Given the description of an element on the screen output the (x, y) to click on. 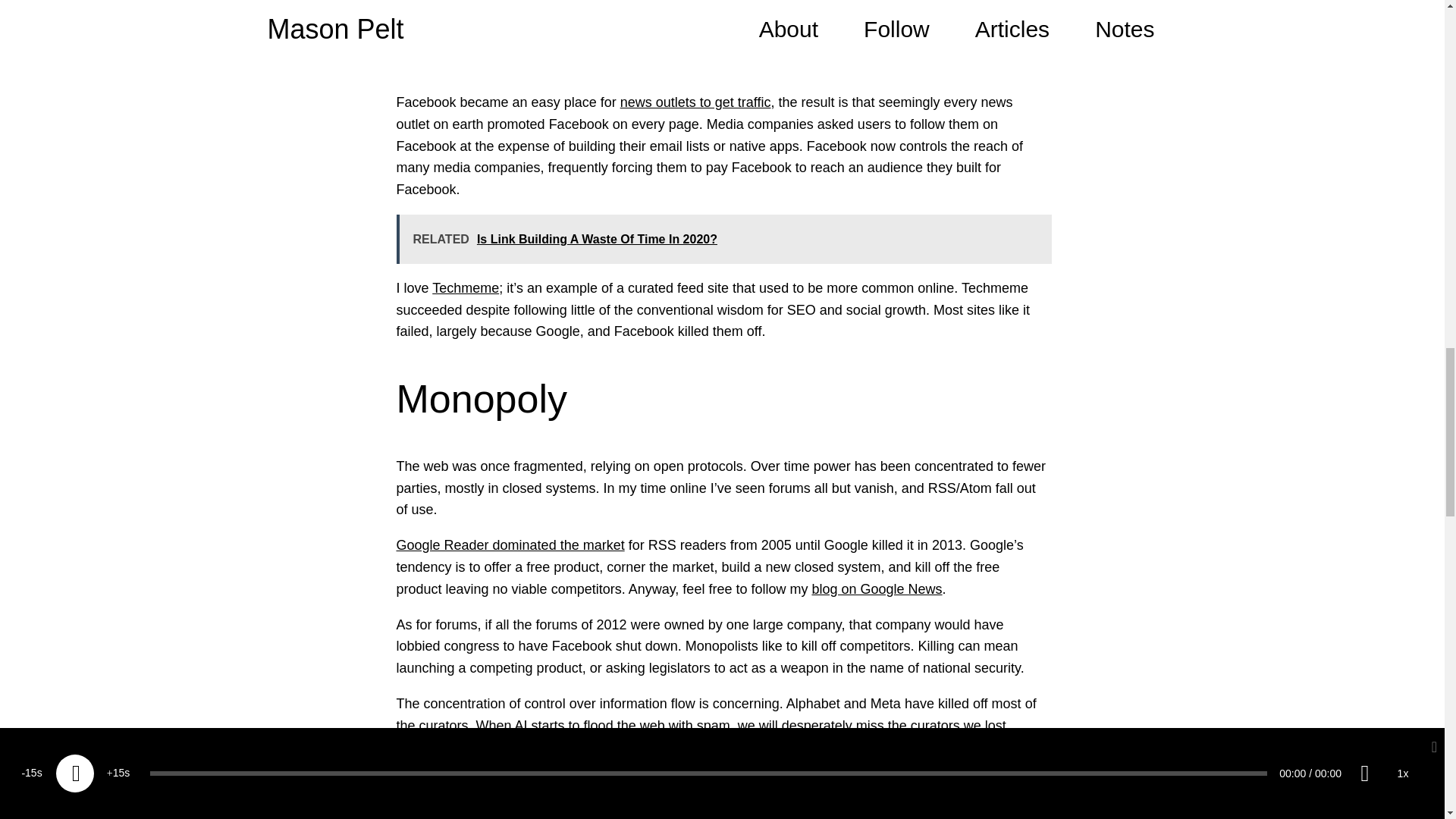
RELATED  Is Link Building A Waste Of Time In 2020? (723, 238)
blog on Google News (876, 589)
Google names its preferred (518, 44)
When AI starts to flood the web (570, 725)
Google Reader dominated the market (510, 544)
Techmeme (465, 287)
Reels Play bonus program (697, 807)
news outlets to get traffic (695, 102)
search engine (502, 782)
